Given the description of an element on the screen output the (x, y) to click on. 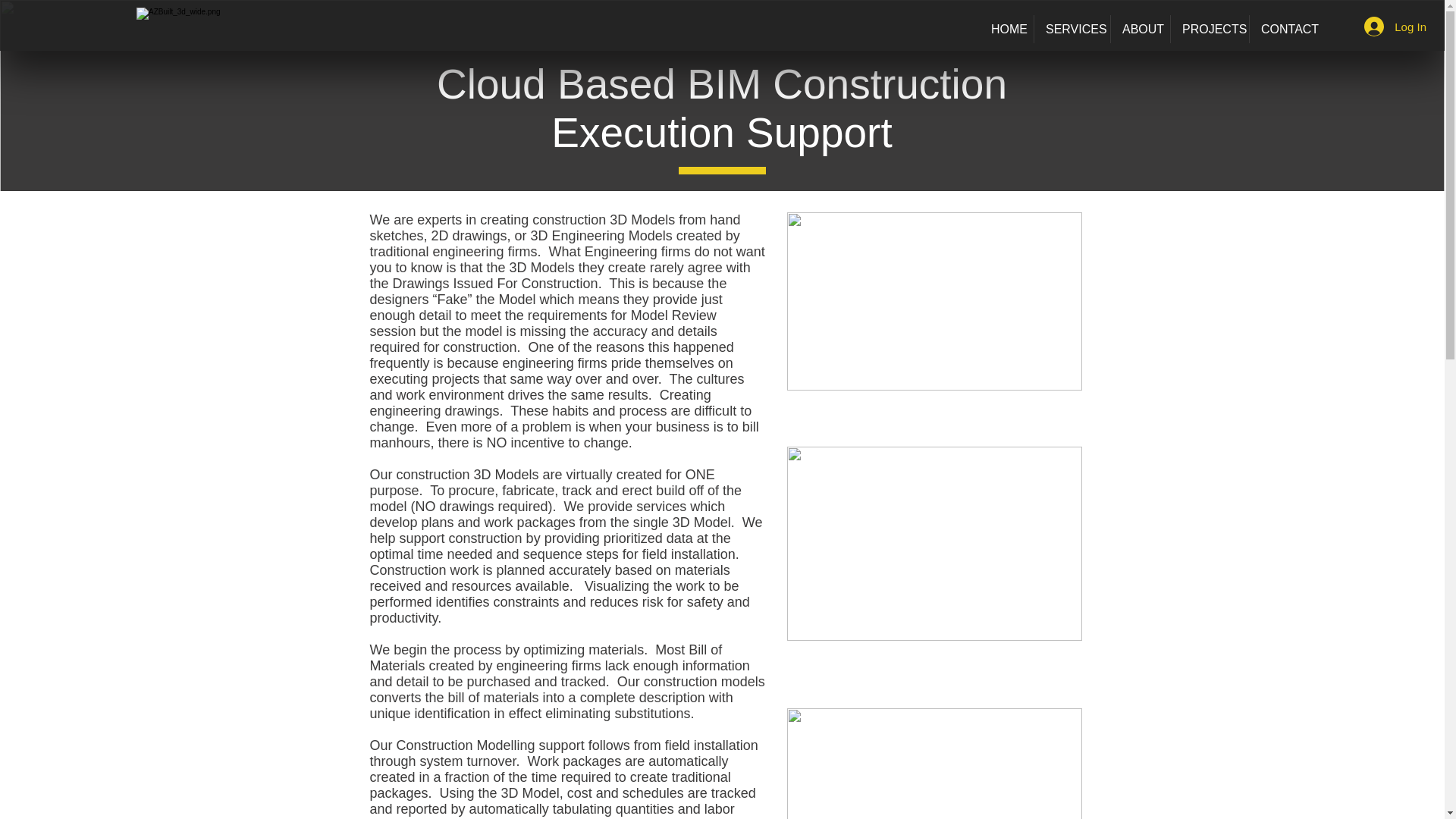
PROJECTS (1209, 29)
HOME (1006, 29)
CONTACT (1284, 29)
SERVICES (1071, 29)
Log In (1395, 26)
ABOUT (1140, 29)
